Given the description of an element on the screen output the (x, y) to click on. 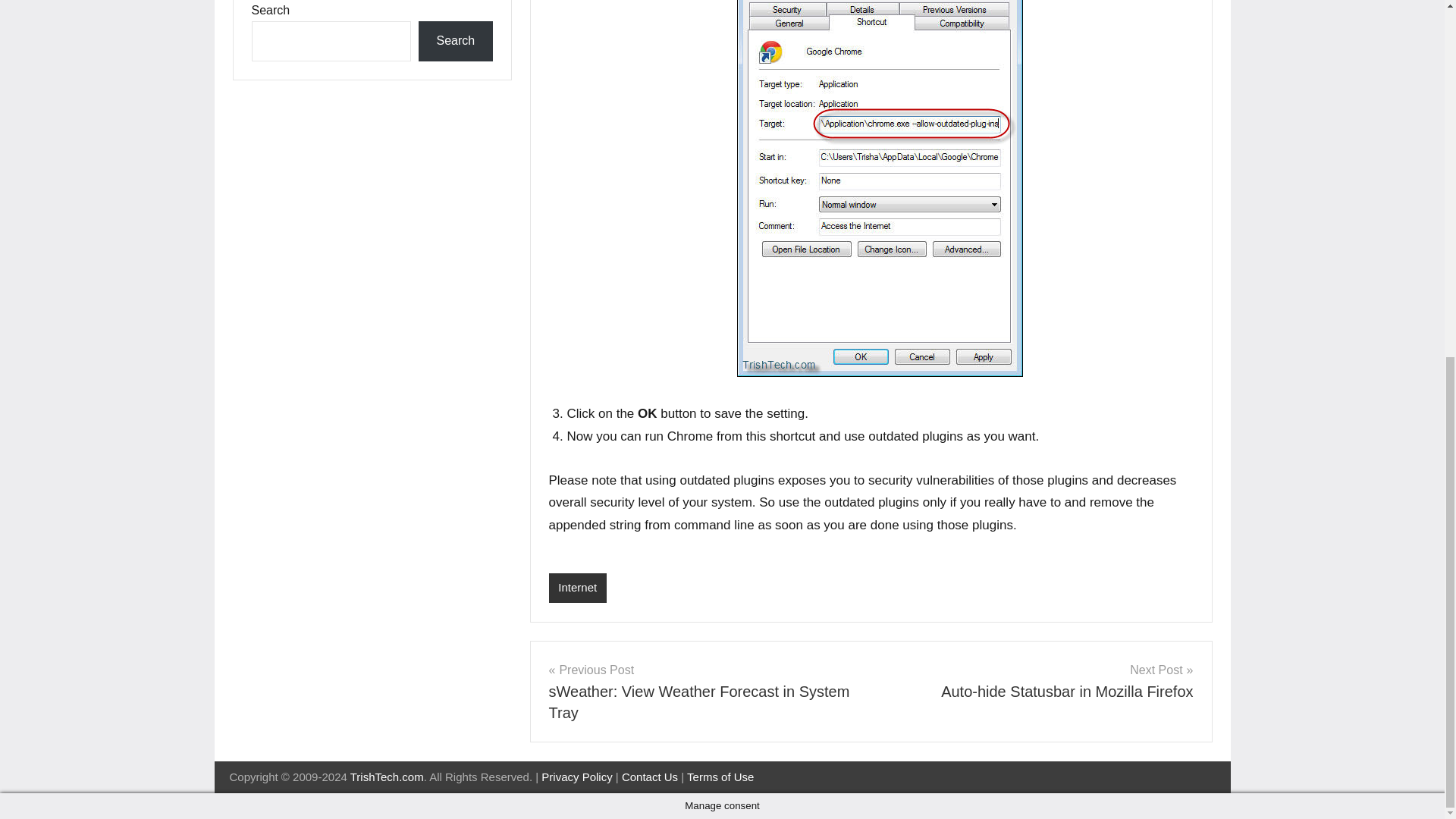
Internet (577, 587)
Terms of Use (720, 776)
Contact Us (649, 776)
Privacy Policy (703, 691)
Search (576, 776)
TrishTech.com (455, 41)
